Given the description of an element on the screen output the (x, y) to click on. 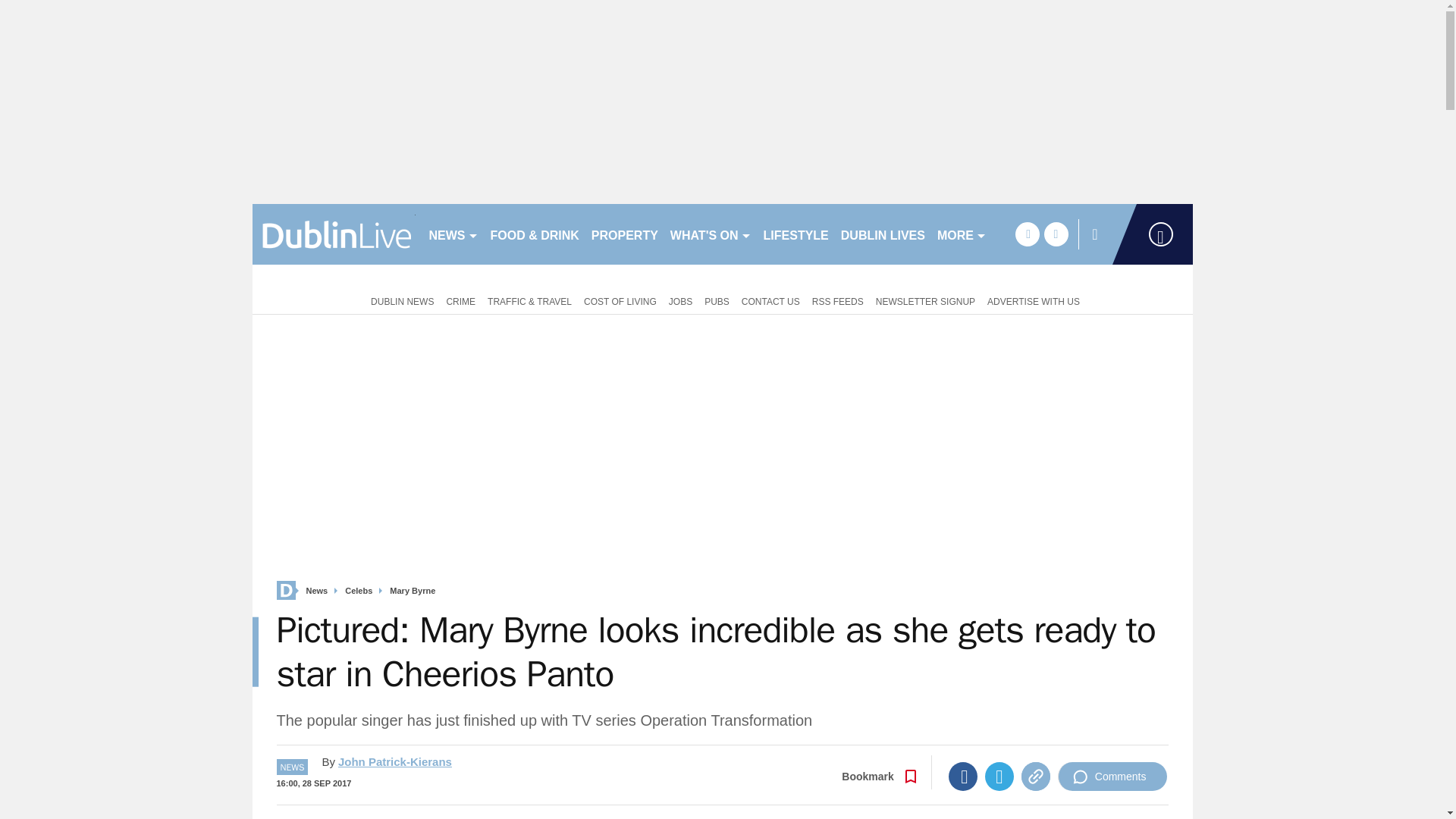
Twitter (999, 776)
Comments (1112, 776)
facebook (1026, 233)
NEWS (453, 233)
dublinlive (332, 233)
Facebook (962, 776)
DUBLIN LIVES (882, 233)
MORE (961, 233)
PROPERTY (624, 233)
LIFESTYLE (795, 233)
